Given the description of an element on the screen output the (x, y) to click on. 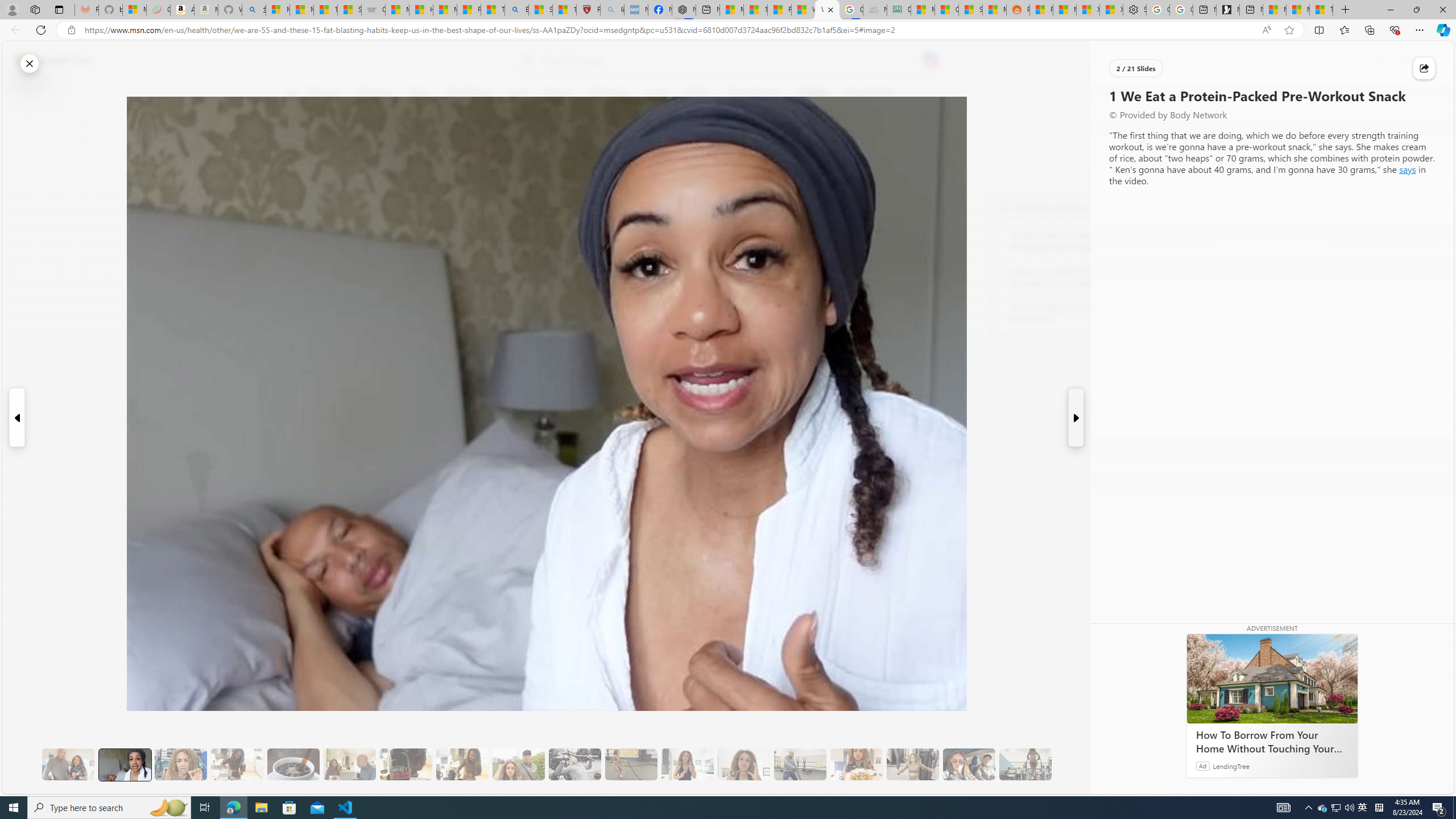
How I Got Rid of Microsoft Edge's Unnecessary Features (421, 9)
Next Slide (1076, 417)
9 They Do Bench Exercises (574, 764)
11 They Eat More Protein for Breakfast (687, 764)
Lifestyle (812, 92)
7 They Don't Skip Meals (462, 764)
6 (299, 170)
says (1407, 168)
Go to publisher's site (830, 146)
Bing (515, 9)
